Given the description of an element on the screen output the (x, y) to click on. 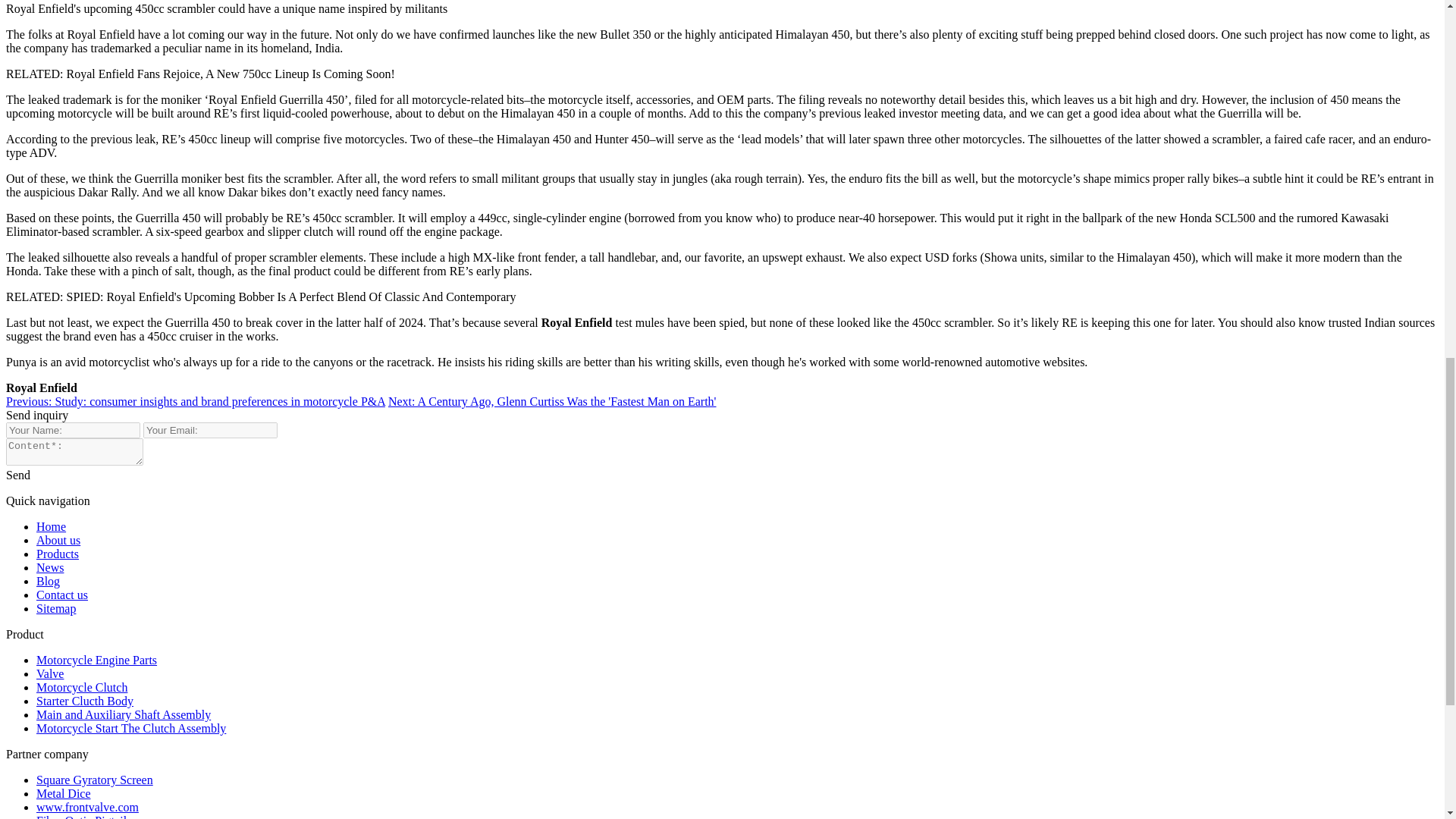
Blog (47, 581)
News (50, 567)
Motorcycle Engine Parts (96, 659)
Sitemap (55, 608)
Home (50, 526)
Products (57, 553)
Valve (50, 673)
Contact us (61, 594)
About us (58, 540)
